Given the description of an element on the screen output the (x, y) to click on. 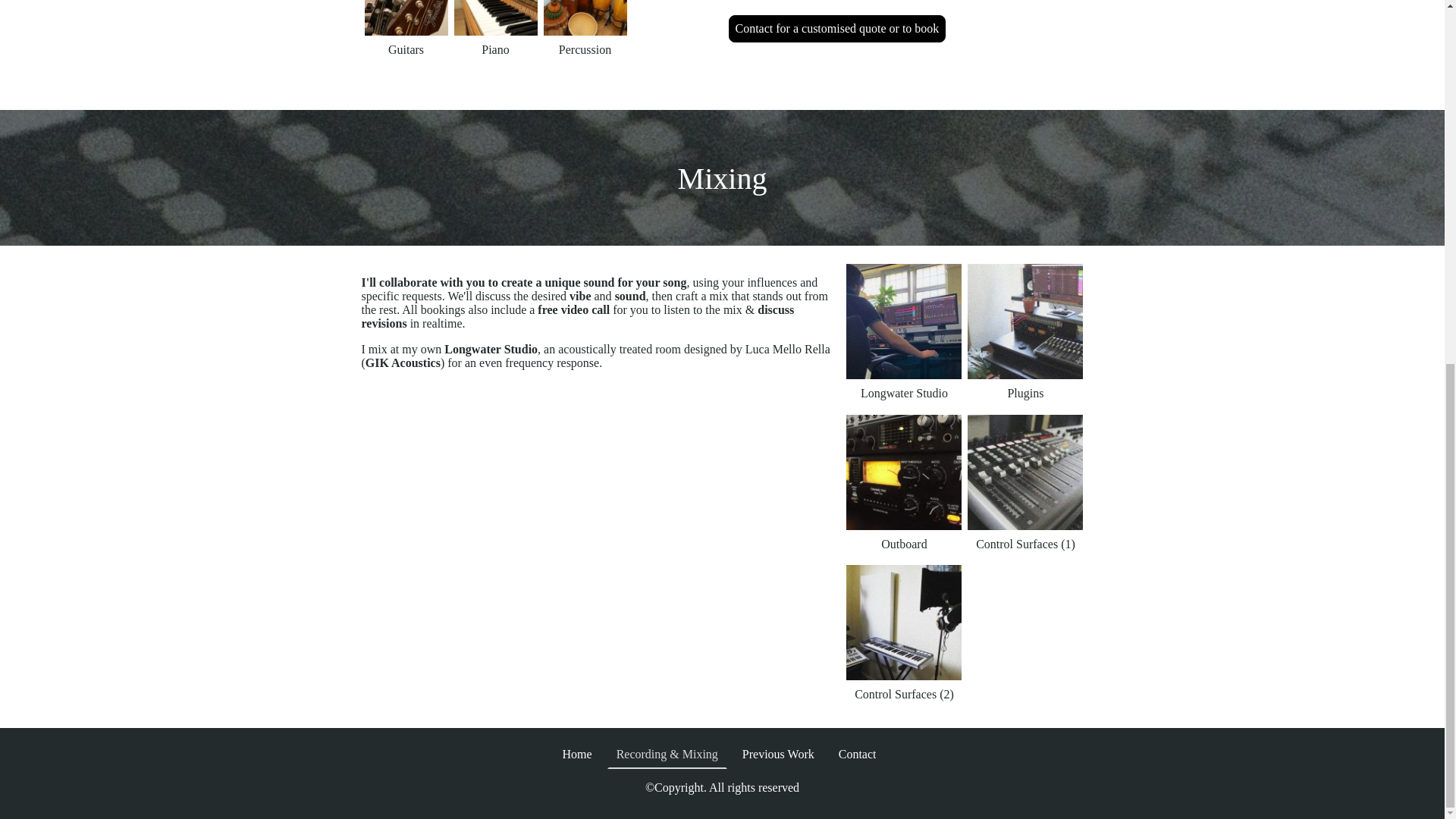
Piano (494, 18)
Contact for a customised quote or to book (836, 28)
Home (576, 754)
Guitars (405, 18)
Outboard (902, 471)
Plugins (1025, 321)
Previous Work (778, 754)
Contact (857, 754)
Longwater Studio (902, 321)
Percussion (584, 18)
